Given the description of an element on the screen output the (x, y) to click on. 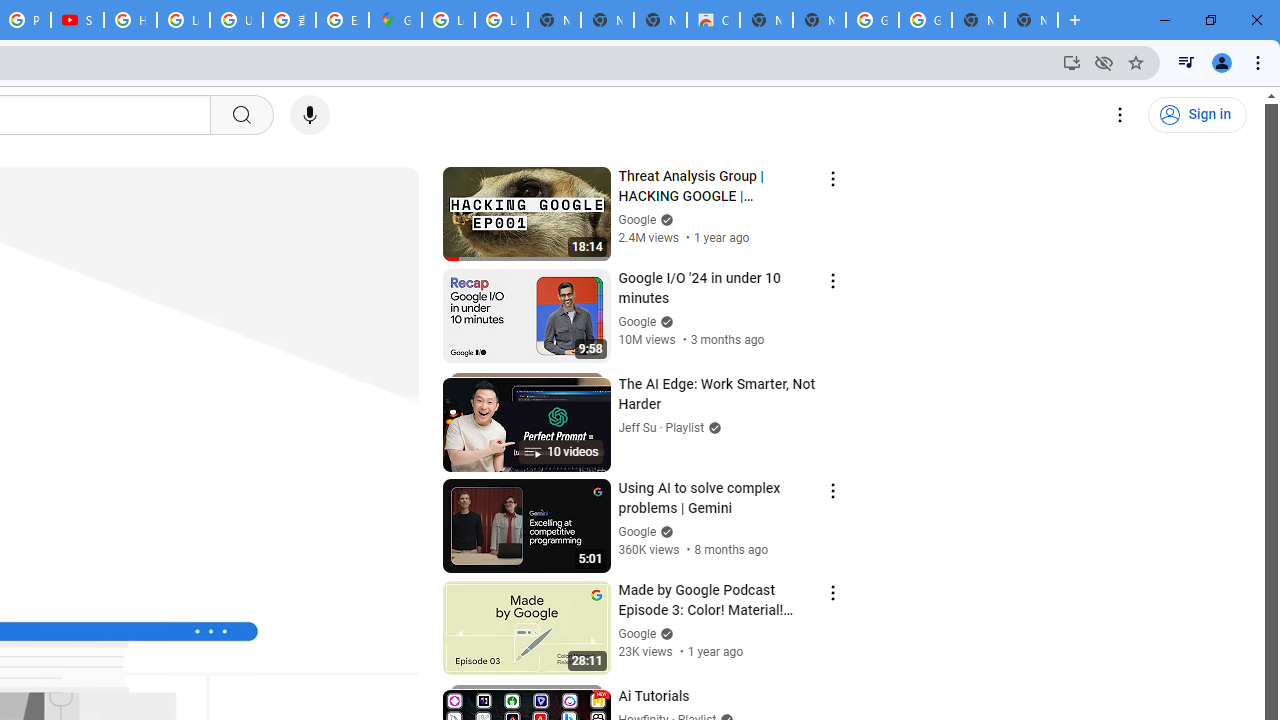
Explore new street-level details - Google Maps Help (342, 20)
Install YouTube (1071, 62)
Google Images (925, 20)
